Given the description of an element on the screen output the (x, y) to click on. 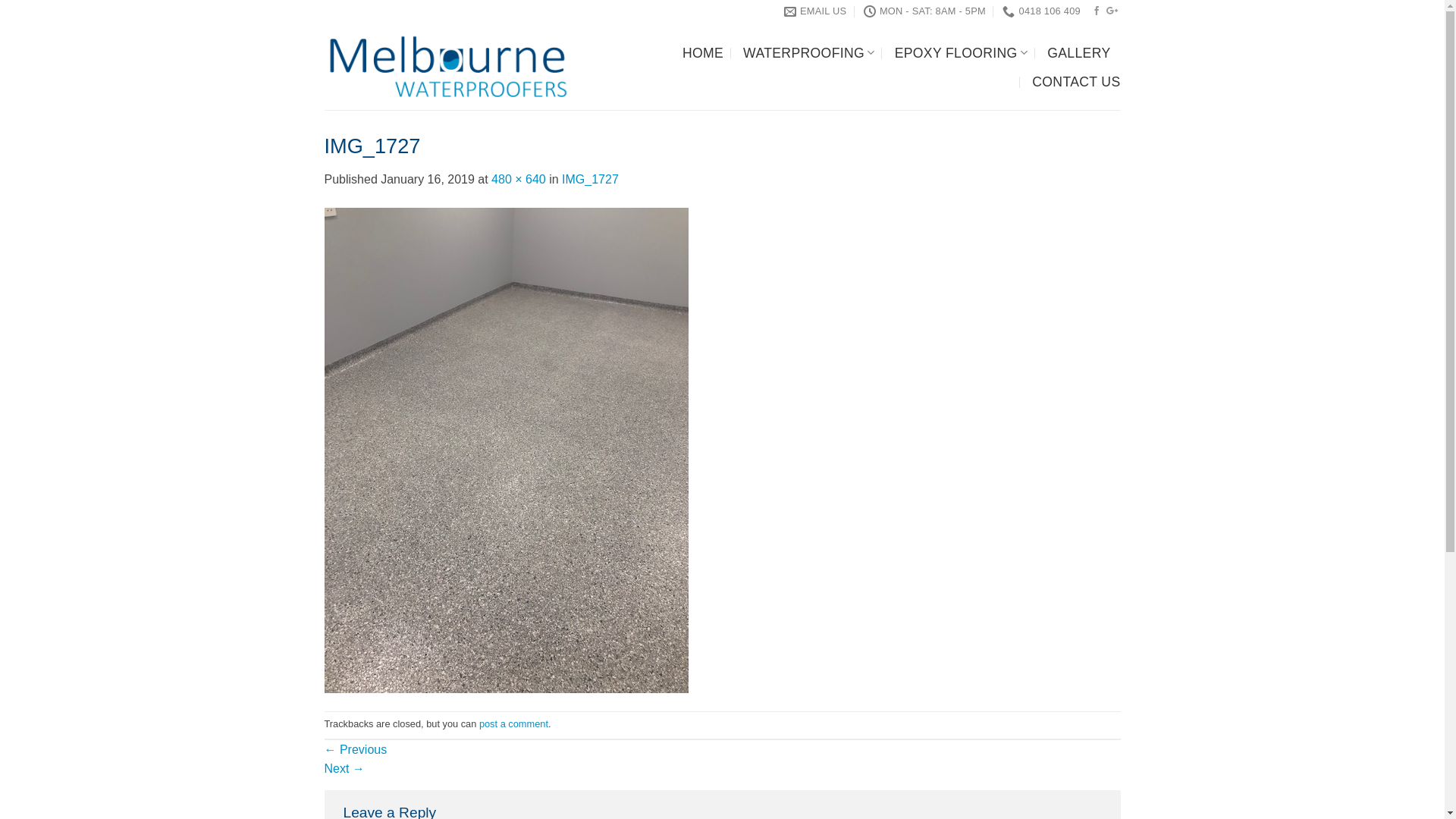
HOME Element type: text (702, 52)
WATERPROOFING Element type: text (809, 52)
MON - SAT: 8AM - 5PM Element type: text (924, 11)
EMAIL US Element type: text (815, 11)
IMG_1727 Element type: hover (506, 448)
0418 106 409 Element type: text (1041, 11)
post a comment Element type: text (513, 723)
CONTACT US Element type: text (1076, 81)
EPOXY FLOORING Element type: text (961, 52)
GALLERY Element type: text (1078, 52)
IMG_1727 Element type: text (589, 178)
